Given the description of an element on the screen output the (x, y) to click on. 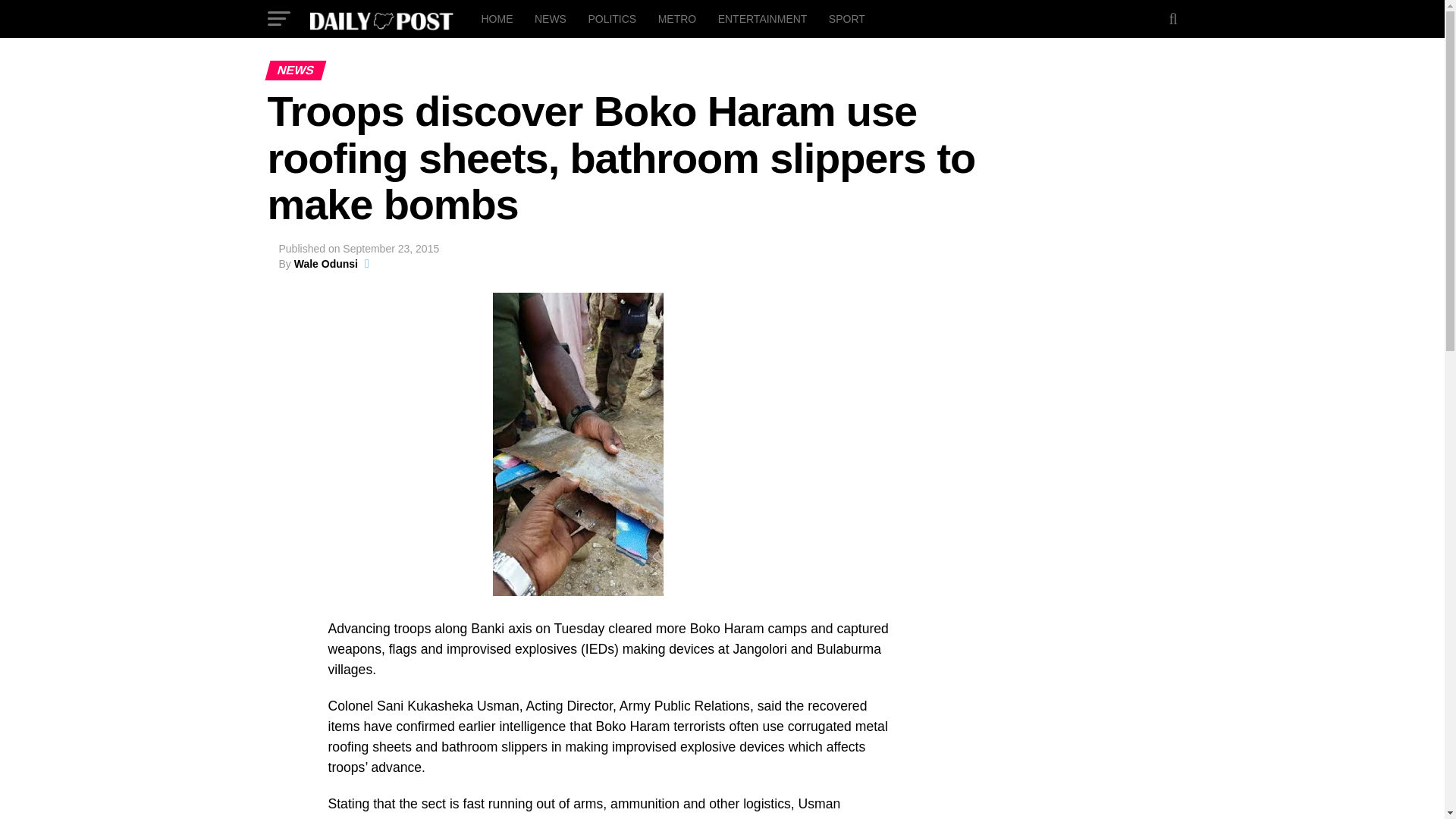
METRO (677, 18)
NEWS (550, 18)
SPORT (847, 18)
POLITICS (611, 18)
HOME (496, 18)
ENTERTAINMENT (762, 18)
Posts by Wale Odunsi (326, 263)
Wale Odunsi (326, 263)
